Given the description of an element on the screen output the (x, y) to click on. 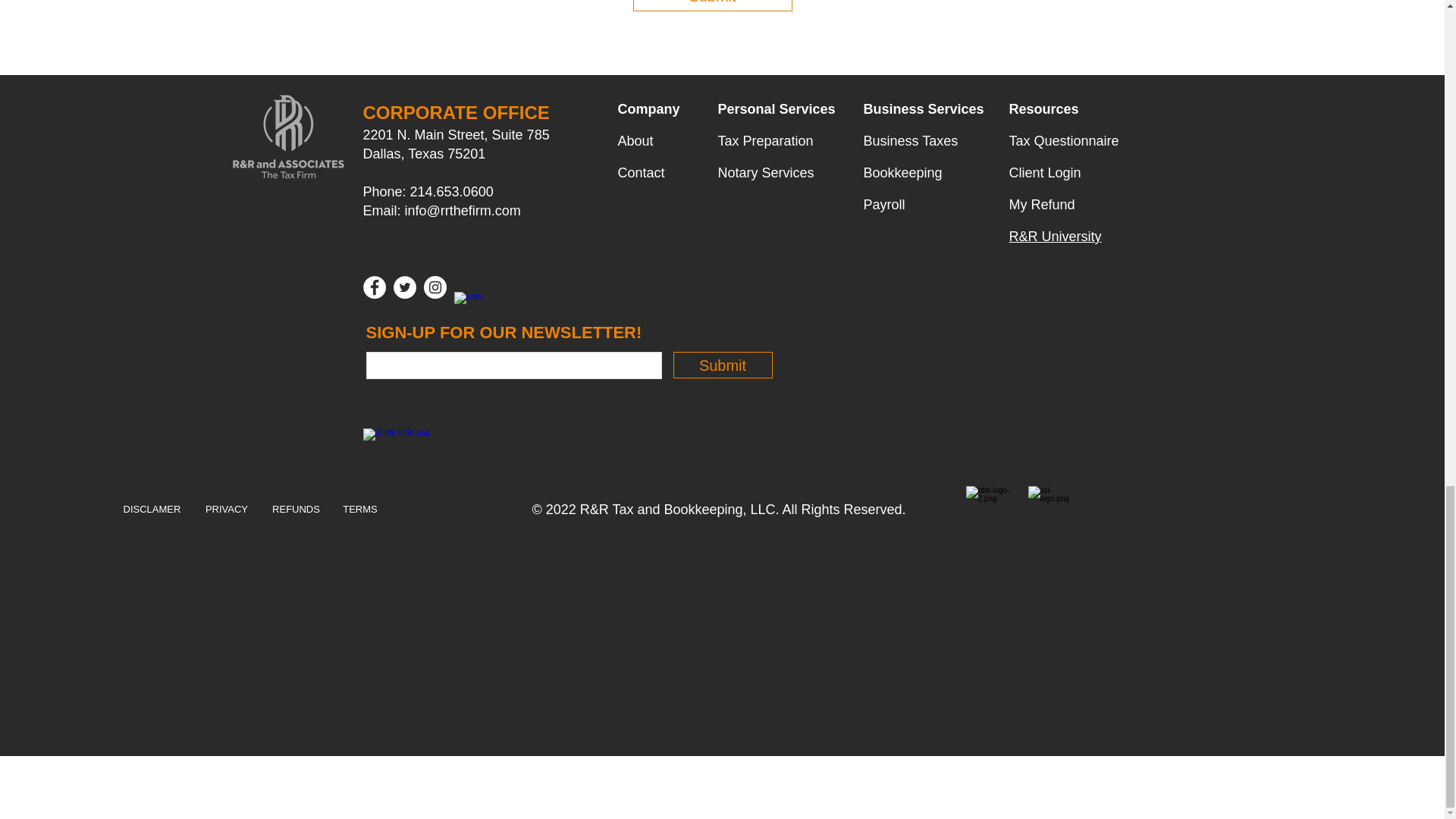
Notary Services (765, 172)
Submit (711, 5)
Bookkeeping (902, 172)
My Refund (1041, 204)
Payroll (883, 204)
Client Login (1044, 172)
Business Taxes (910, 140)
Tax Questionnaire (1063, 140)
About (634, 140)
Submit (722, 365)
Tax Preparation (764, 140)
Contact (640, 172)
